Given the description of an element on the screen output the (x, y) to click on. 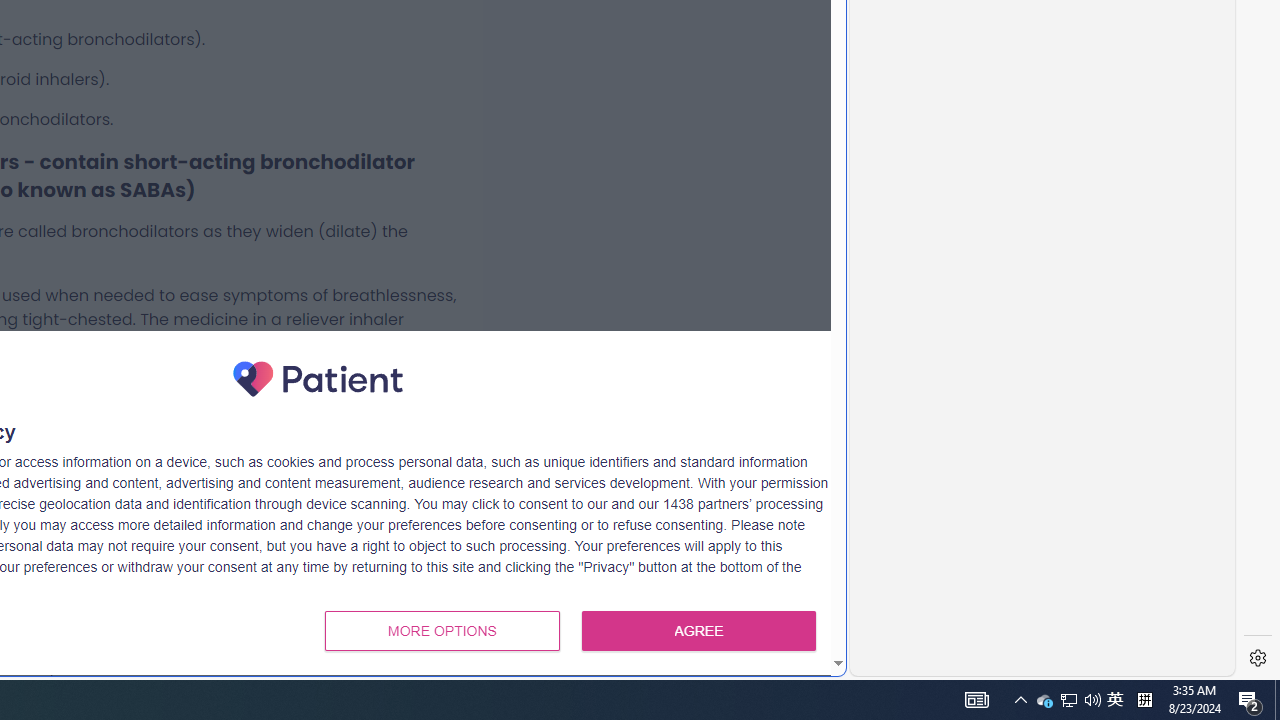
Publisher Logo (317, 378)
AGREE (699, 630)
terbutaline (373, 407)
MORE OPTIONS (442, 630)
salbutamol (241, 407)
